Given the description of an element on the screen output the (x, y) to click on. 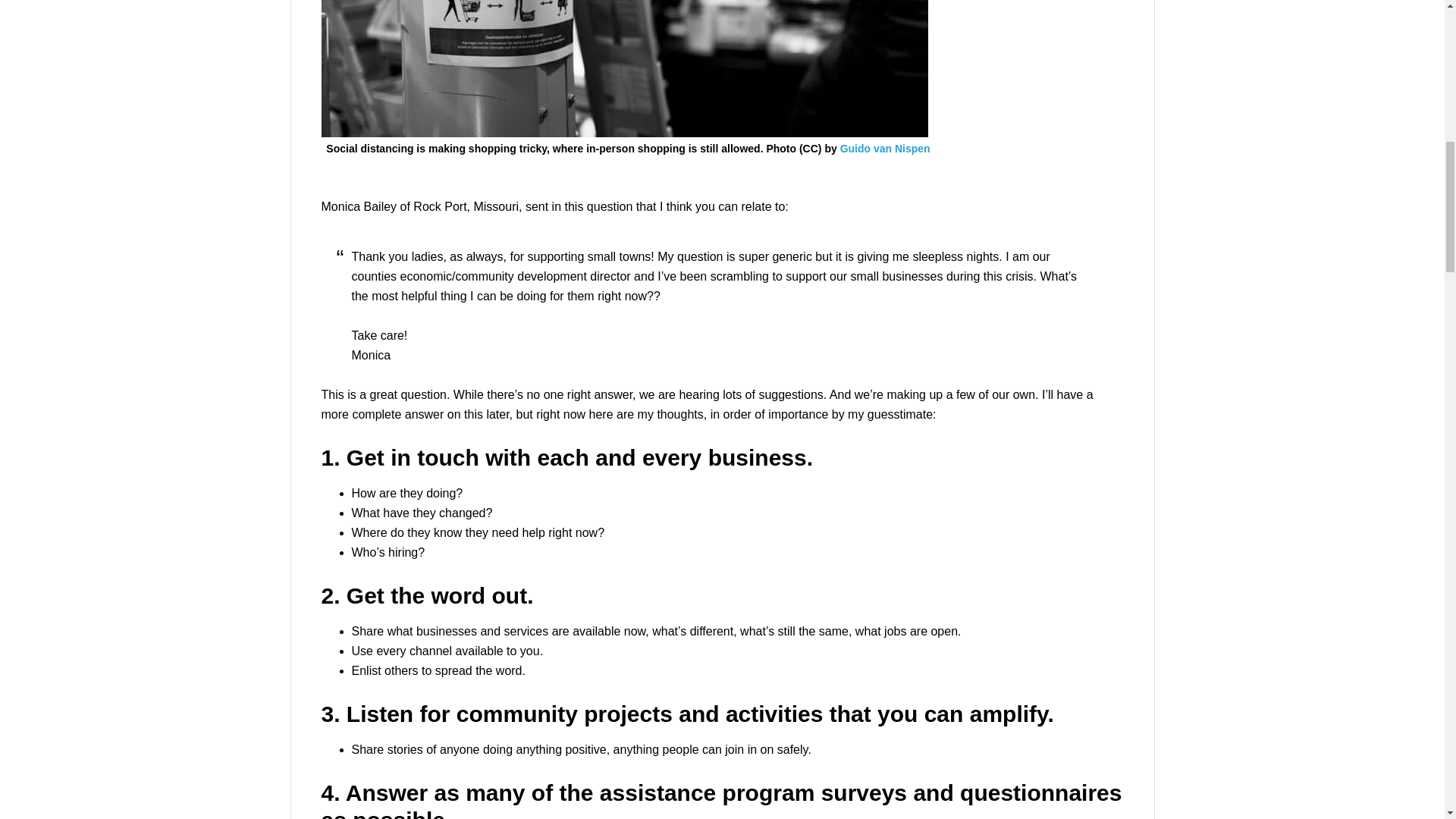
Guido van Nispen (885, 148)
